Given the description of an element on the screen output the (x, y) to click on. 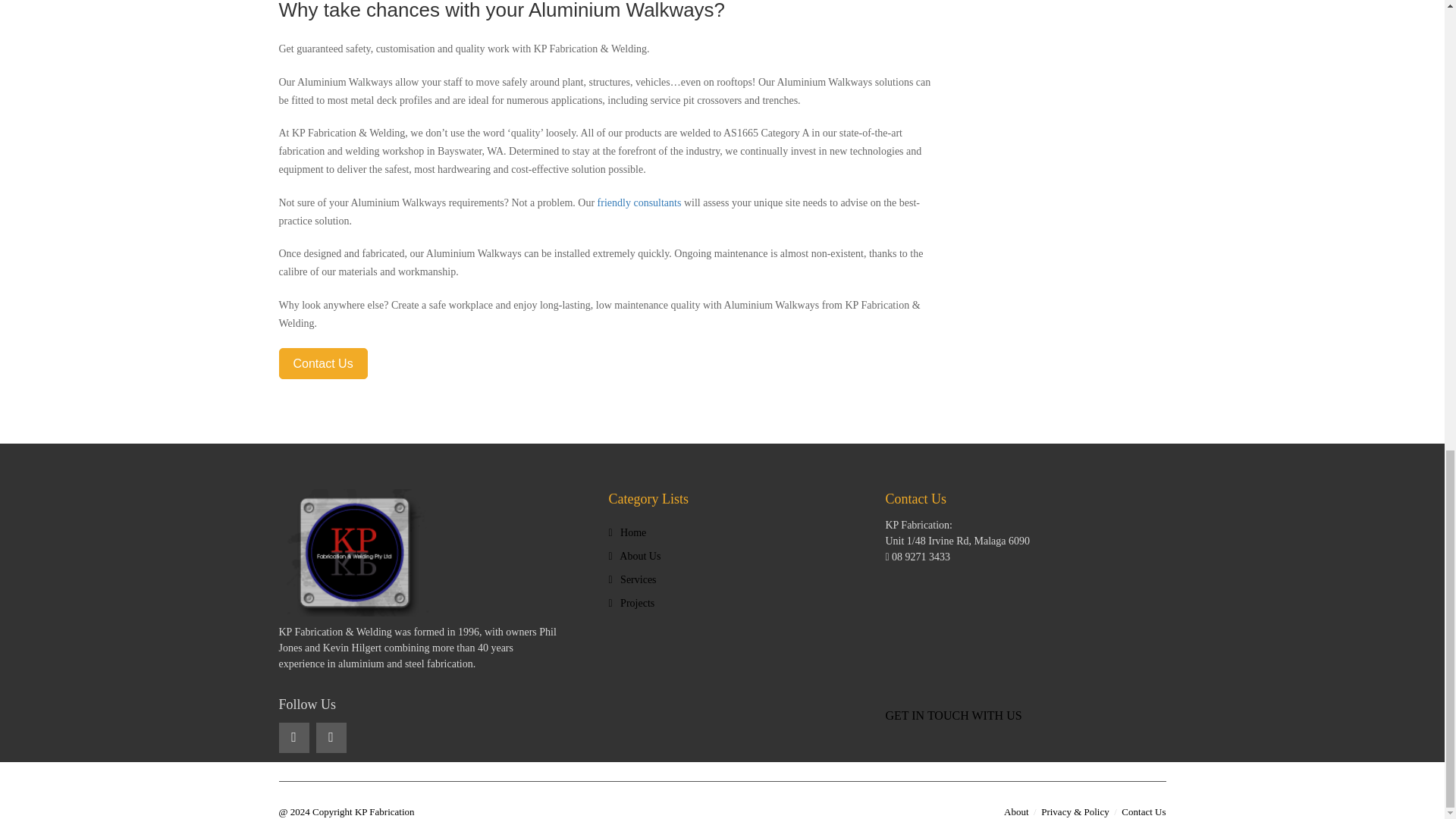
  Home (627, 532)
Contact Us (323, 363)
friendly consultants (638, 202)
